Given the description of an element on the screen output the (x, y) to click on. 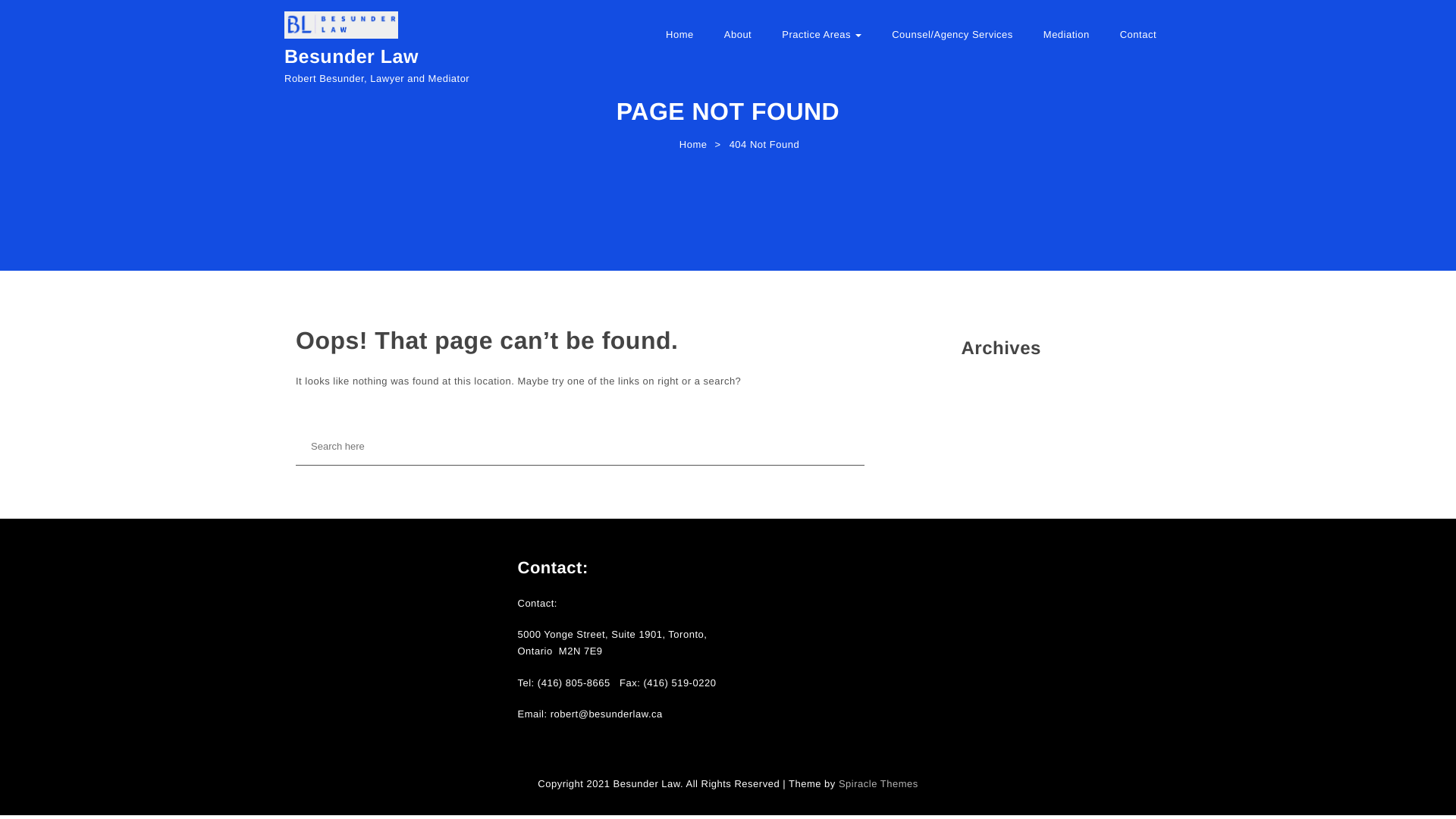
Spiracle Themes Element type: text (878, 783)
Counsel/Agency Services Element type: text (952, 41)
Practice Areas Element type: text (821, 41)
Besunder Law Element type: text (351, 56)
Home Element type: text (689, 148)
Search Element type: text (46, 20)
Contact Element type: text (1138, 41)
About Element type: text (737, 41)
Mediation Element type: text (1066, 41)
Home Element type: text (679, 41)
